Given the description of an element on the screen output the (x, y) to click on. 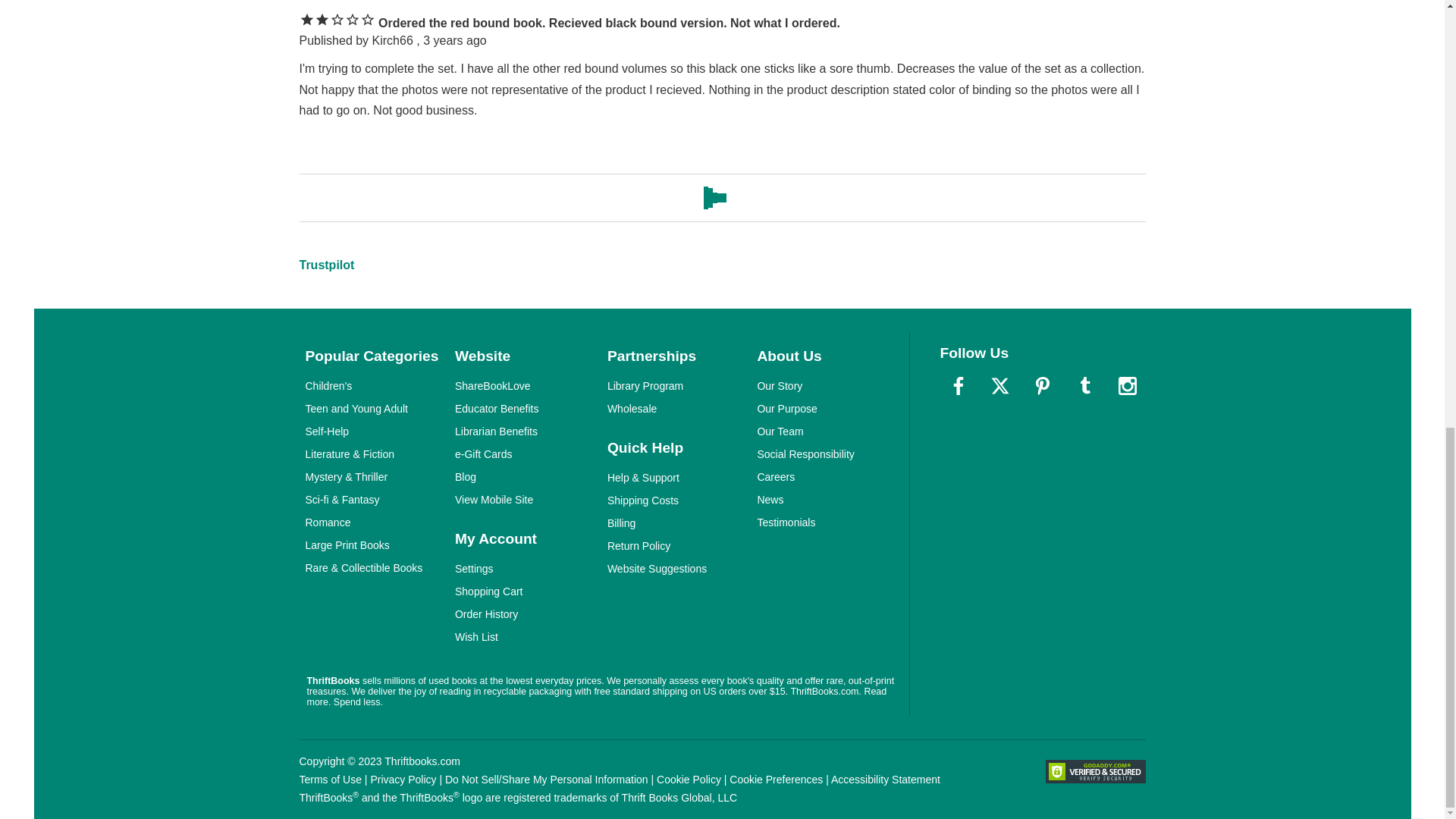
Trustpilot (325, 264)
Librarian Benefits (495, 431)
Follow us on Instagram (1126, 385)
Educator Benefits (496, 408)
e-Gift Cards (483, 453)
Large Print Books (346, 544)
Follow us on Pinterest (1043, 385)
Settings (473, 568)
Follow us on Twitter (999, 385)
Like us on Facebook (958, 385)
